Given the description of an element on the screen output the (x, y) to click on. 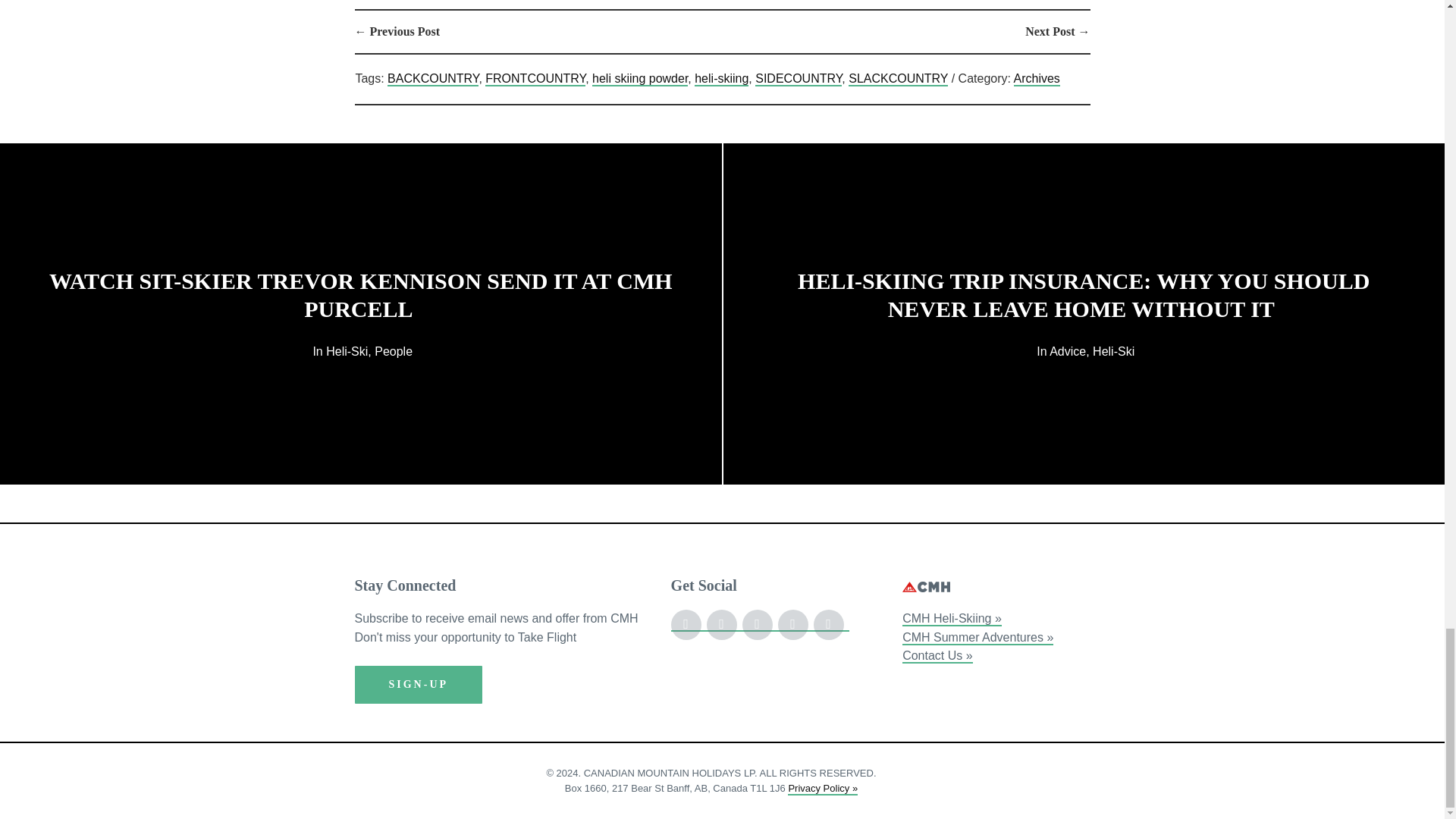
Heli-Ski (347, 350)
heli-skiing (721, 79)
SIDECOUNTRY (798, 79)
BACKCOUNTRY (433, 79)
Link to CMH Facebook Page (688, 624)
SLACKCOUNTRY (897, 79)
Link to CMH Instagram Page (724, 624)
WATCH SIT-SKIER TREVOR KENNISON SEND IT AT CMH PURCELL  (360, 294)
Archives (1036, 79)
